Given the description of an element on the screen output the (x, y) to click on. 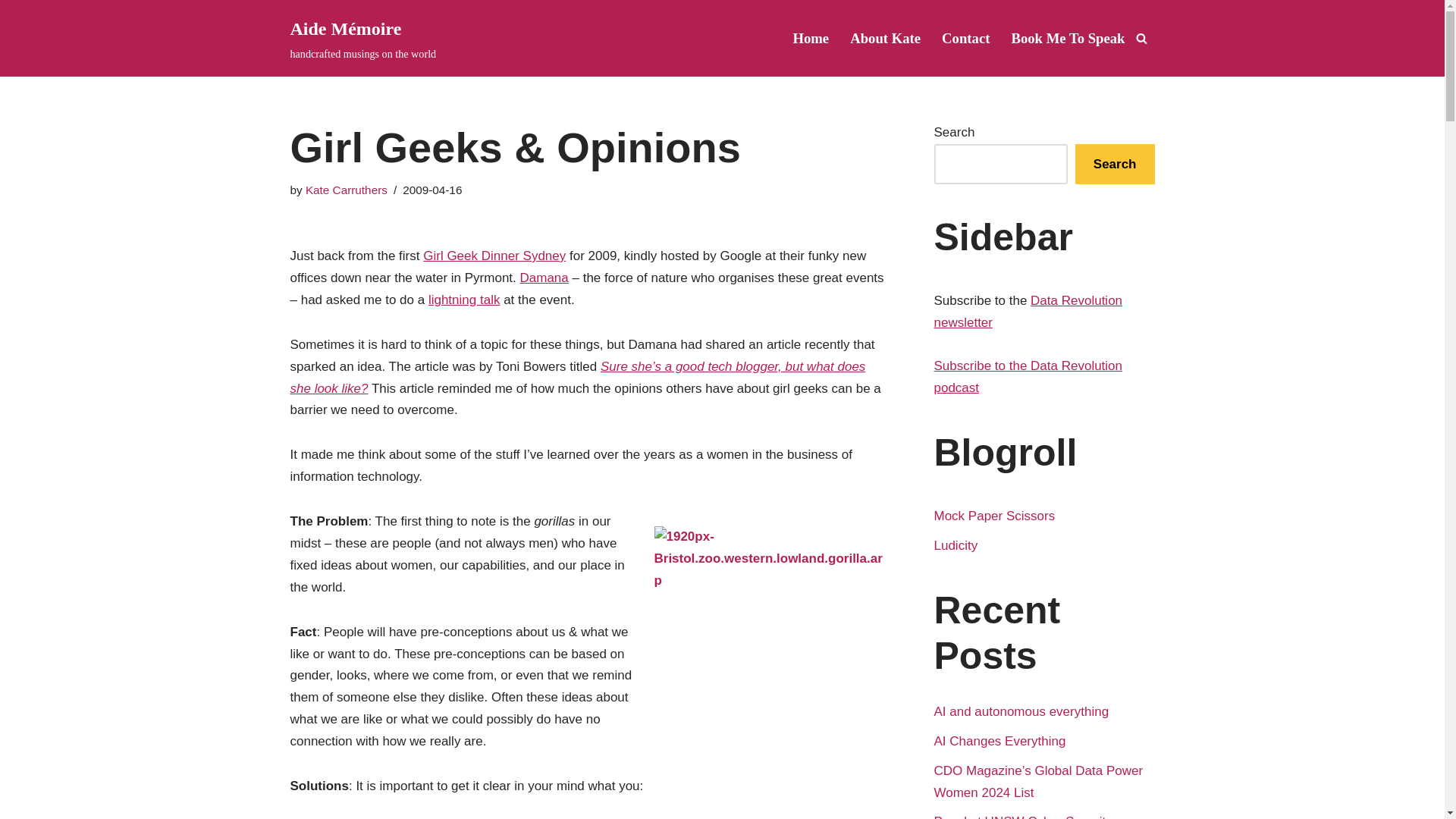
Home (810, 37)
Skip to content (11, 31)
Data Revolution newsletter (1028, 311)
Contact (966, 37)
Posts by Kate Carruthers (346, 189)
Search (1114, 164)
Book Me To Speak (1067, 37)
lightning talk (464, 299)
Damana (544, 278)
About Kate (885, 37)
Kate Carruthers (346, 189)
Girl Geek Dinner Sydney (494, 255)
